Given the description of an element on the screen output the (x, y) to click on. 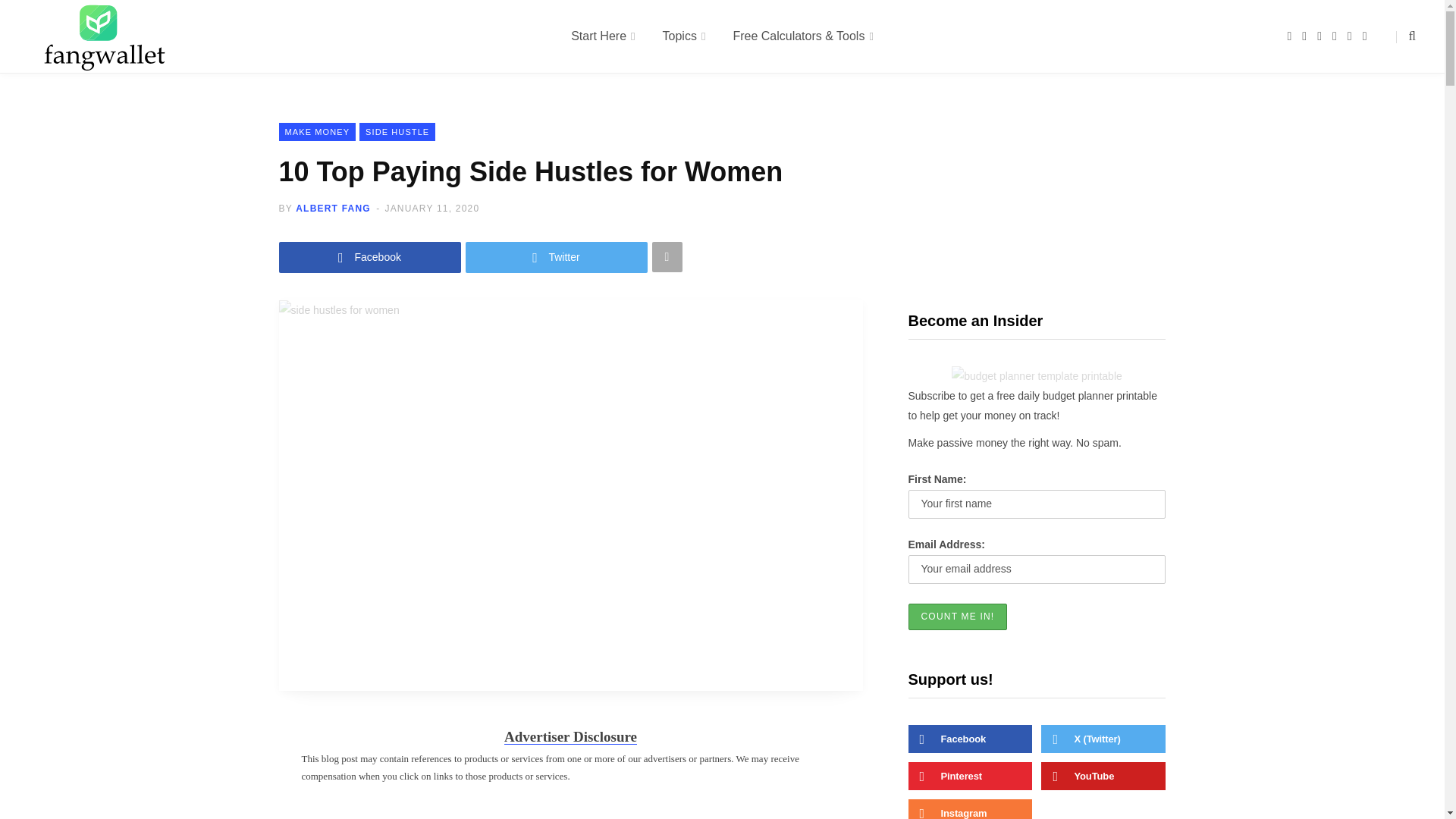
FangWallet (104, 36)
Count me in! (957, 616)
Start Here (602, 36)
